Given the description of an element on the screen output the (x, y) to click on. 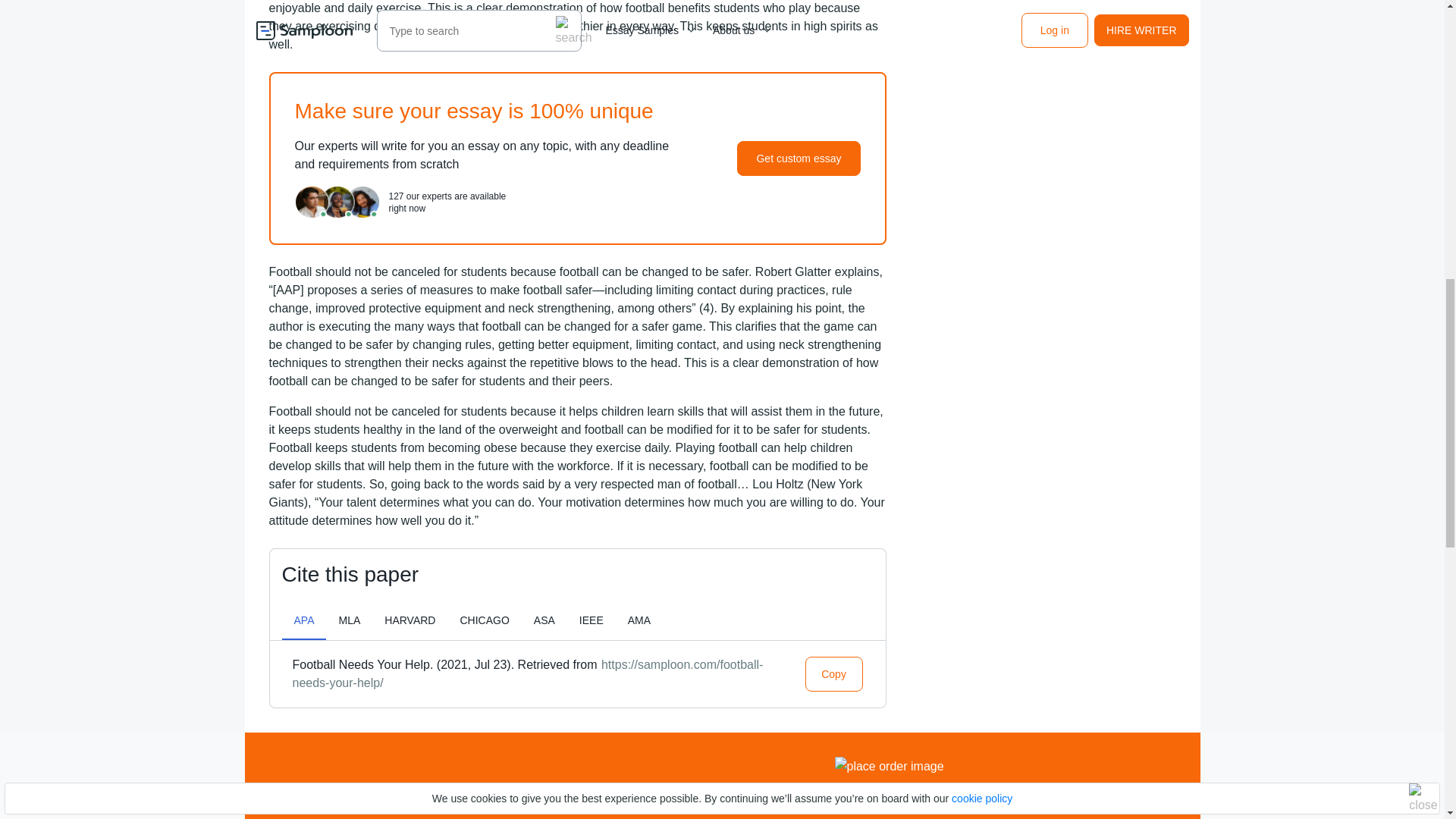
IEEE (591, 619)
MLA (349, 619)
AMA (638, 619)
APA (304, 619)
ASA (544, 619)
HARVARD (409, 619)
CHICAGO (483, 619)
